Given the description of an element on the screen output the (x, y) to click on. 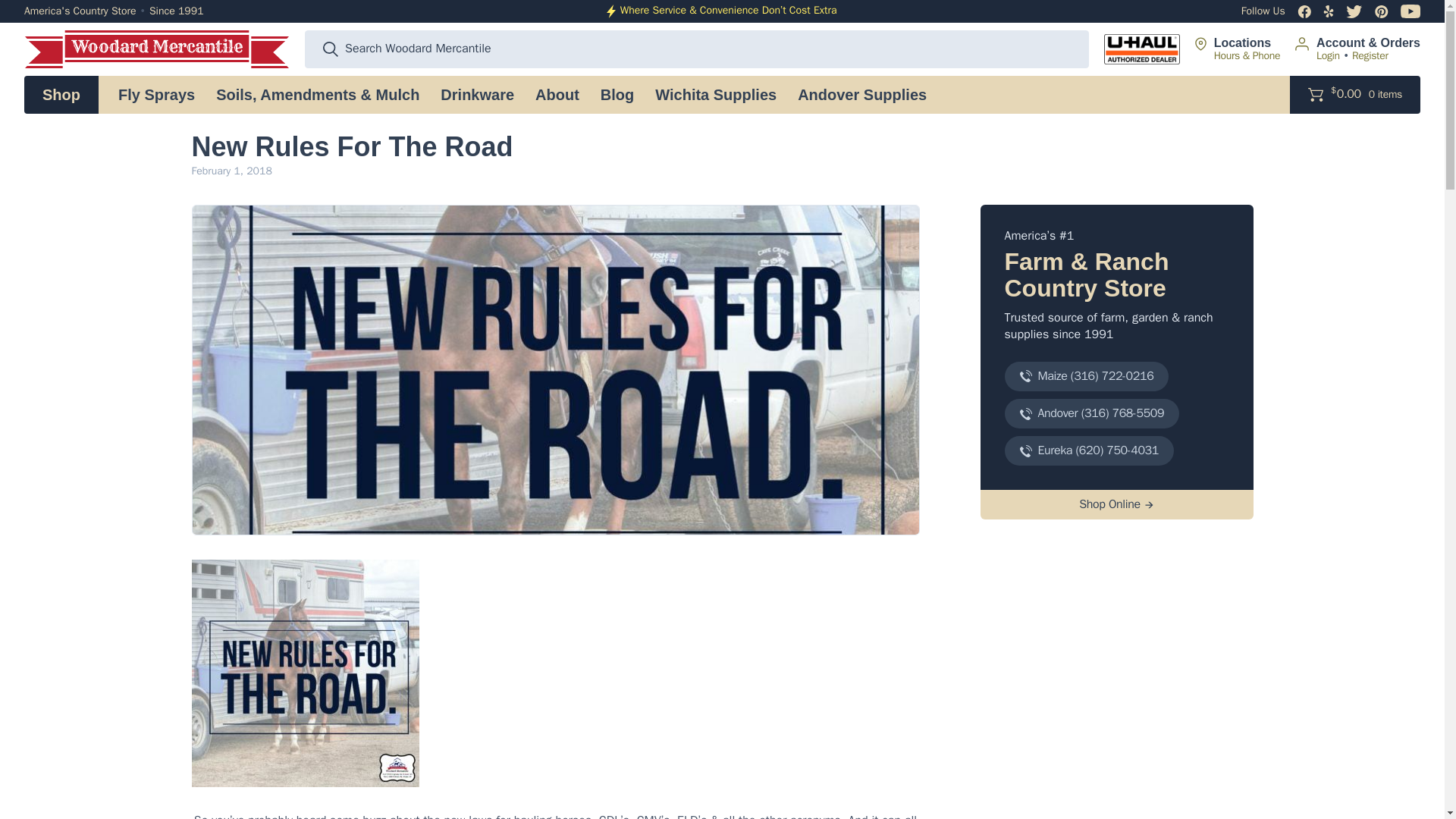
Youtube (1410, 11)
Andover Supplies (862, 94)
Fly Sprays (156, 94)
Shop Online (1115, 504)
Search (330, 48)
Facebook (1304, 11)
Wichita Supplies (716, 94)
Blog (617, 94)
Drinkware (476, 94)
About (556, 94)
